Given the description of an element on the screen output the (x, y) to click on. 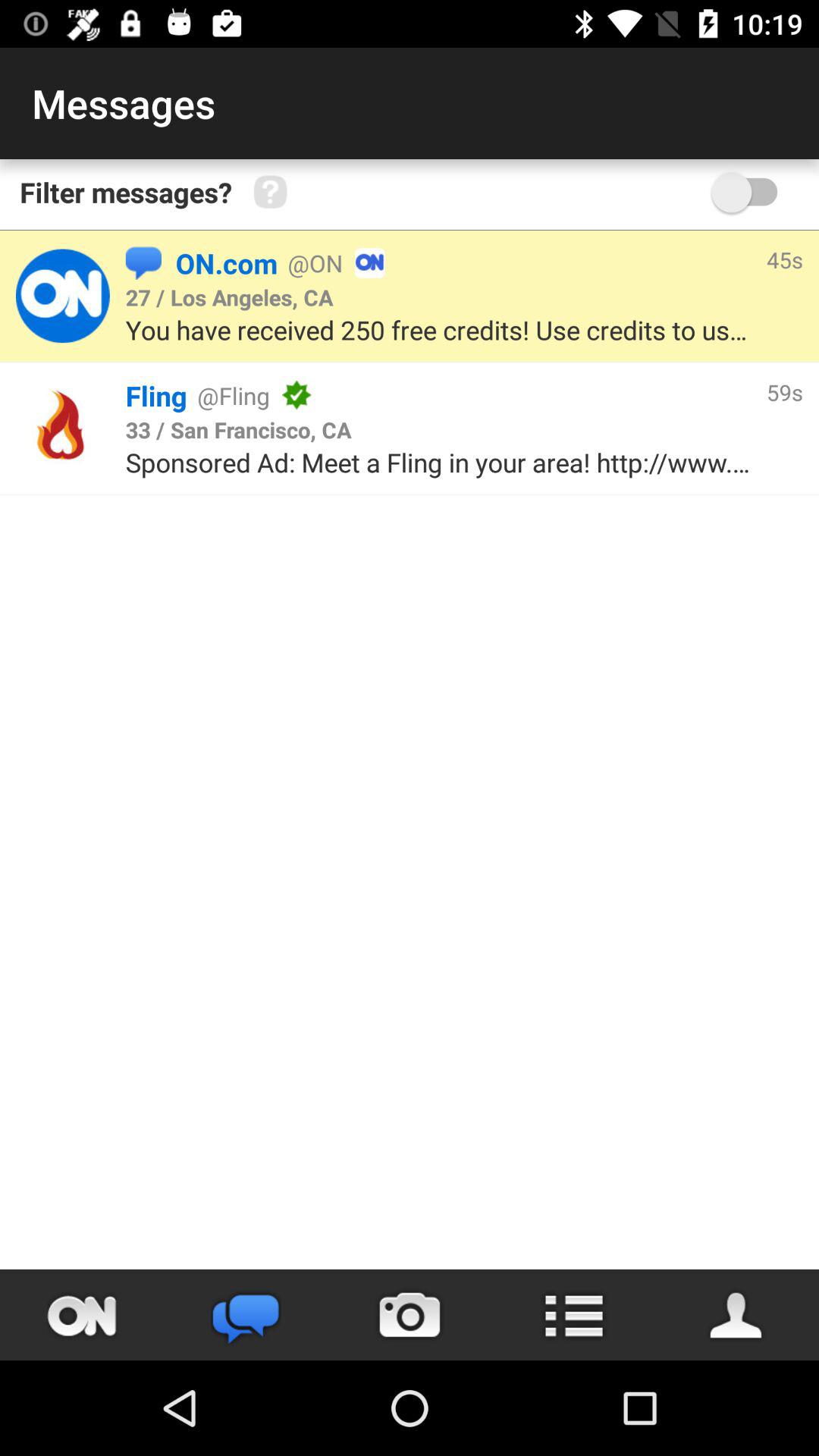
toggle message filter (751, 192)
